Given the description of an element on the screen output the (x, y) to click on. 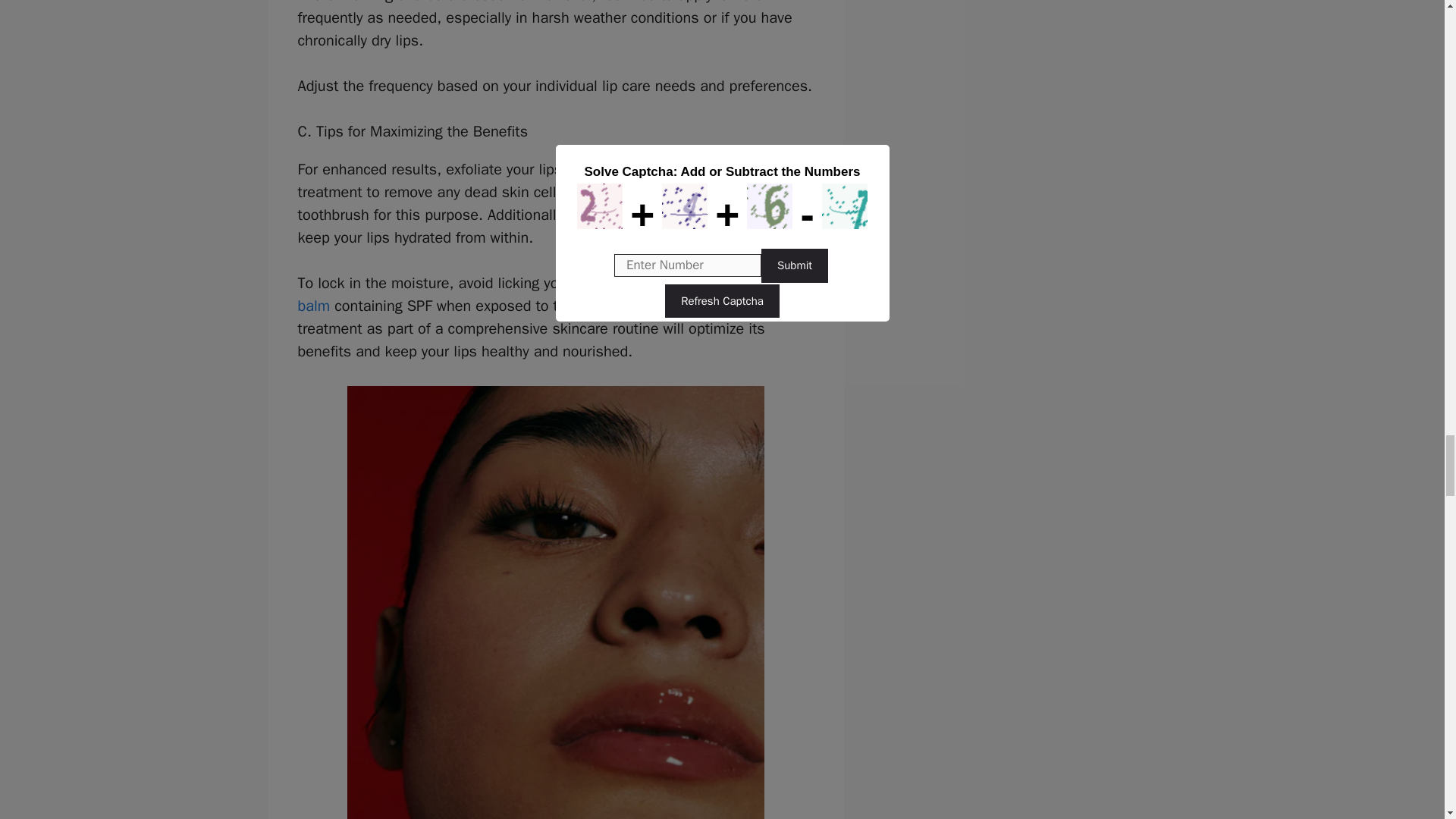
lip balm (538, 294)
